Given the description of an element on the screen output the (x, y) to click on. 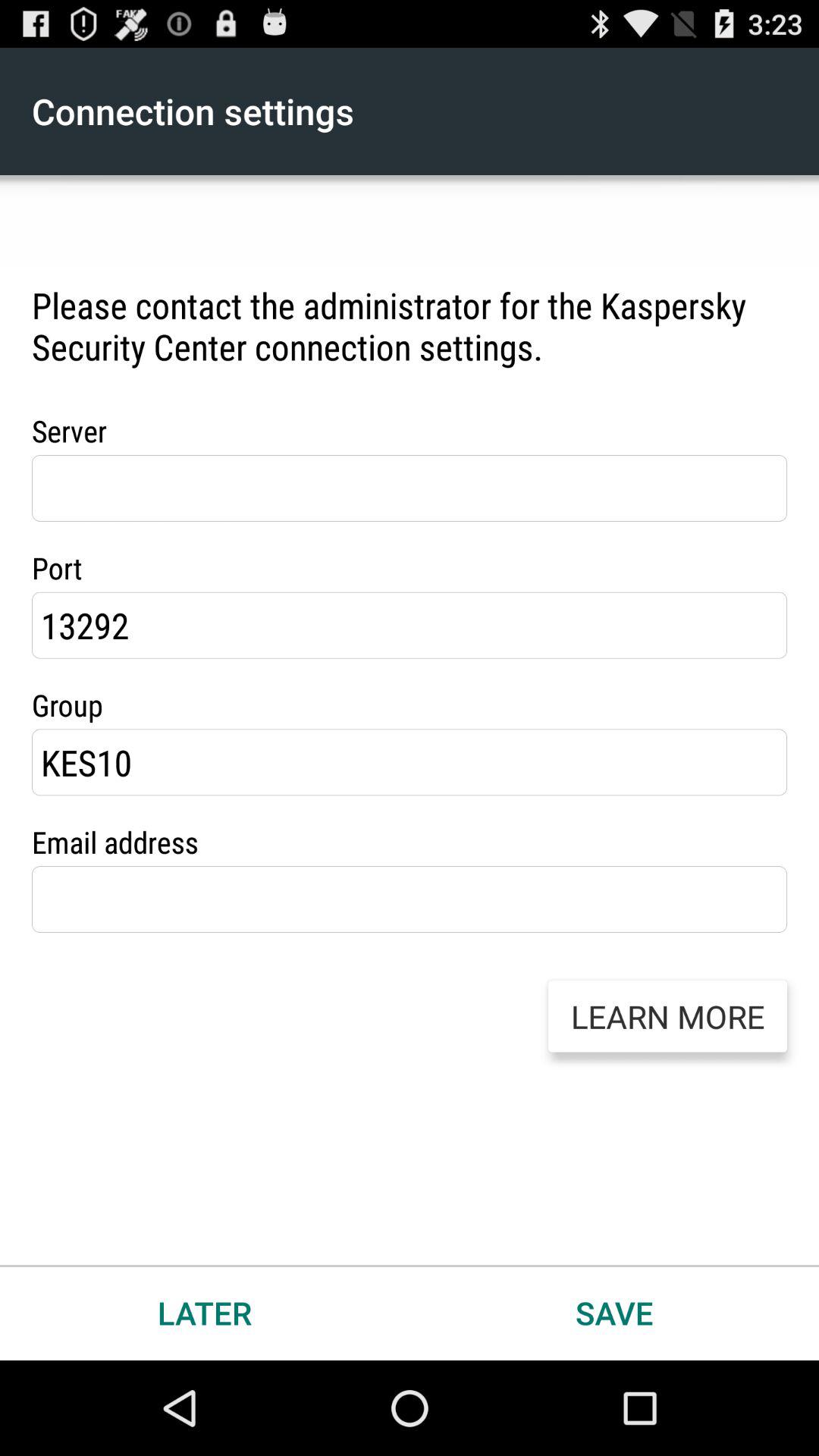
enter server number (409, 488)
